Given the description of an element on the screen output the (x, y) to click on. 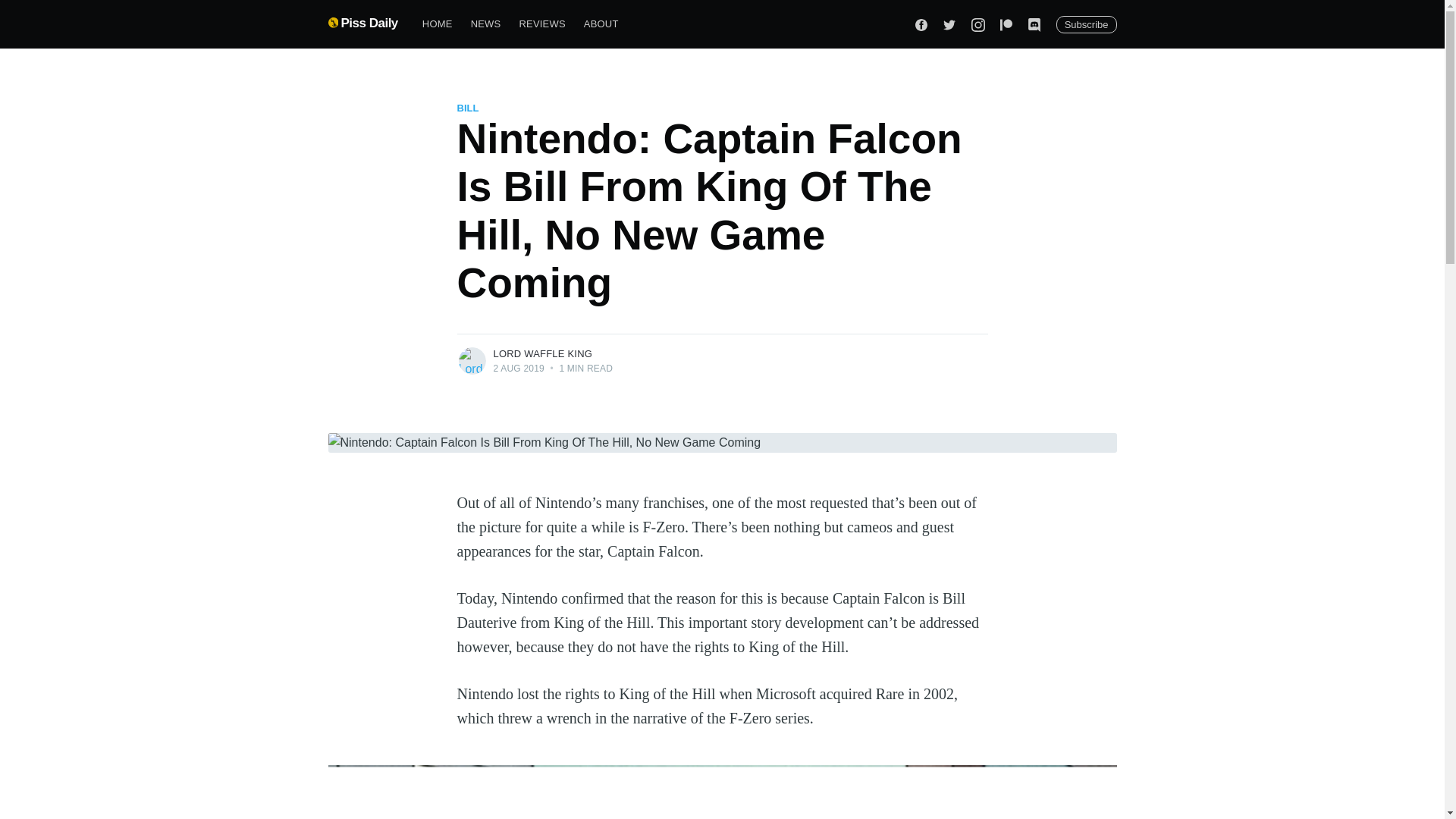
Subscribe (1086, 23)
Discord (1034, 23)
Facebook (920, 23)
Piss Daily (362, 23)
Twitter (948, 23)
REVIEWS (541, 24)
LORD WAFFLE KING (542, 353)
BILL (468, 108)
Patreon (1006, 23)
NEWS (486, 24)
ABOUT (601, 24)
HOME (437, 24)
Instagram (977, 23)
